Given the description of an element on the screen output the (x, y) to click on. 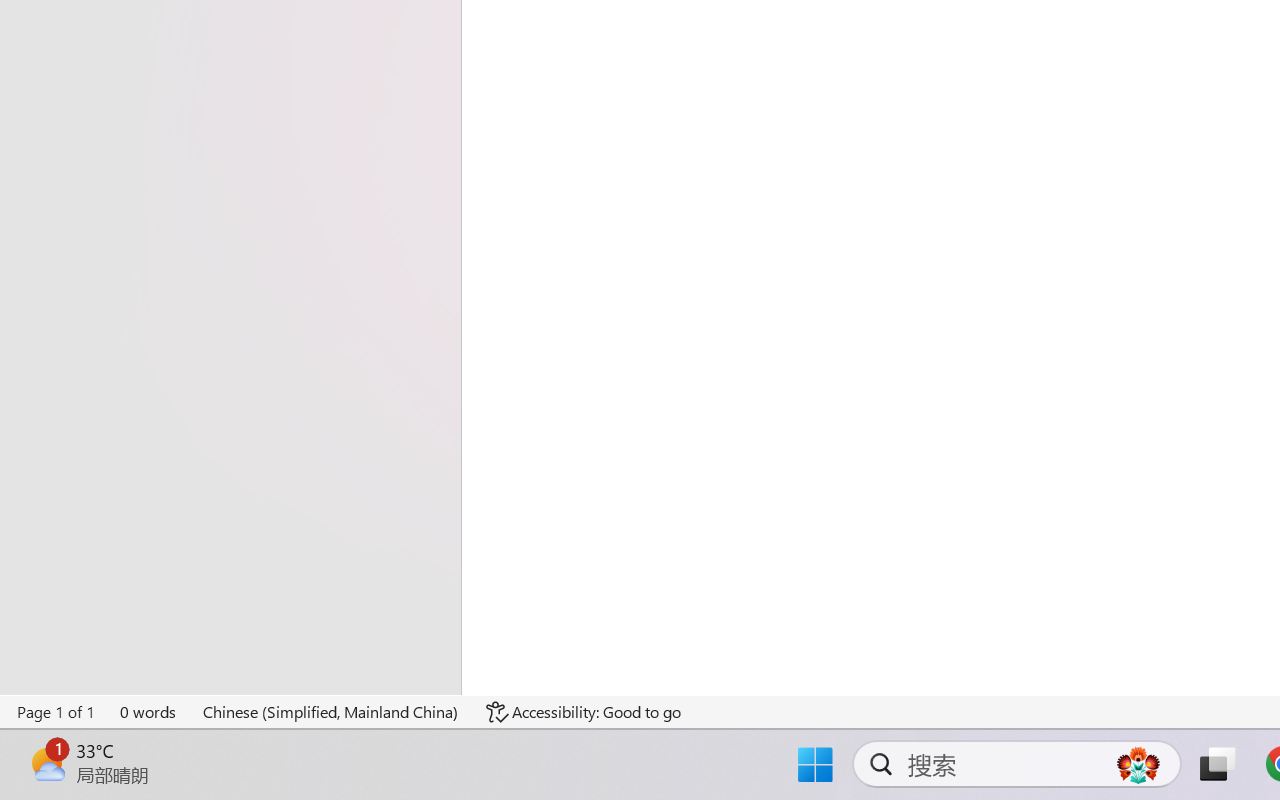
Language Chinese (Simplified, Mainland China) (331, 712)
